Given the description of an element on the screen output the (x, y) to click on. 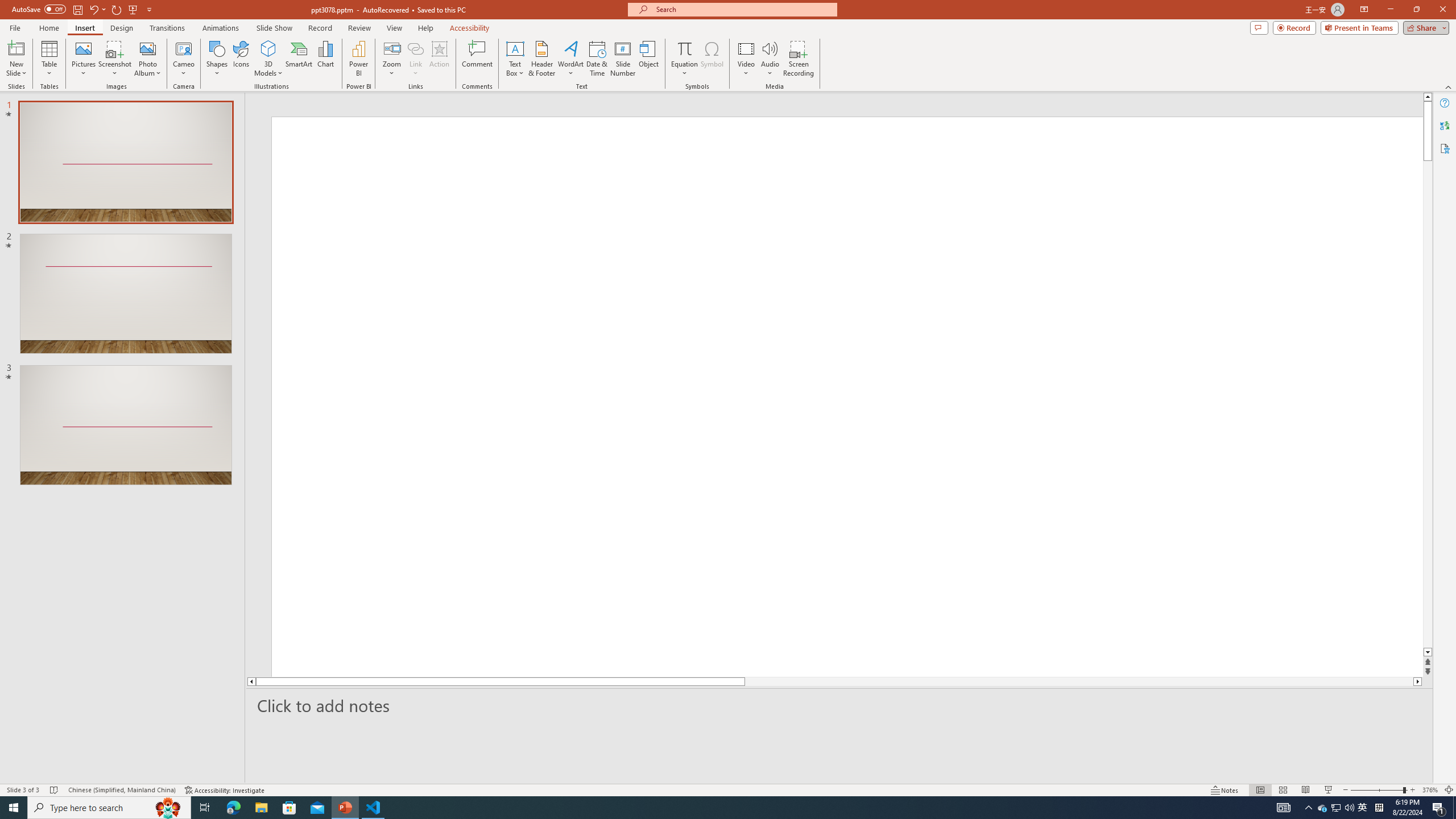
WordArt (570, 58)
Power BI (358, 58)
Link (415, 48)
Date & Time... (596, 58)
Equation (683, 48)
Photo Album... (147, 58)
